Given the description of an element on the screen output the (x, y) to click on. 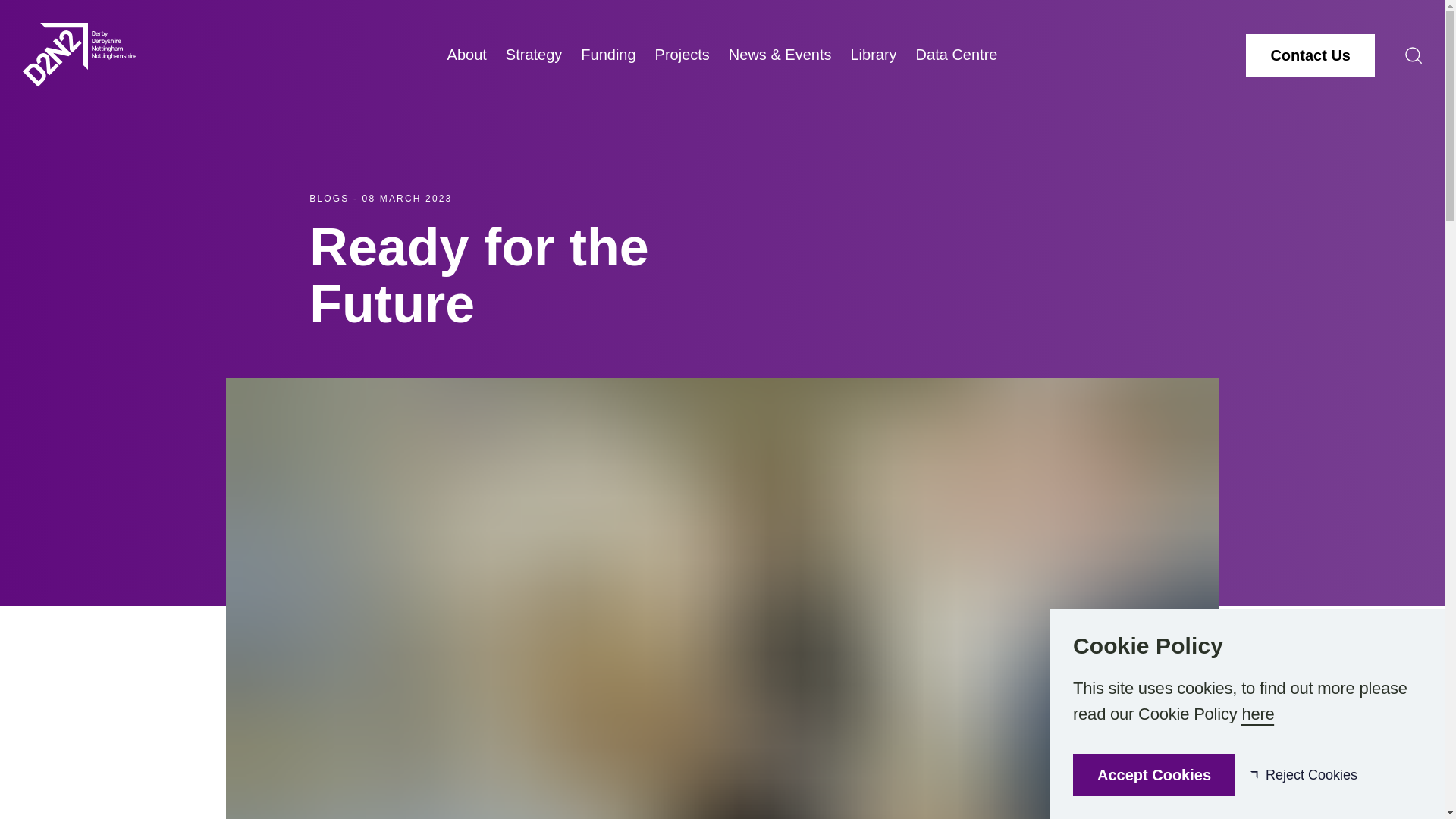
Reject Cookies (1303, 774)
Data Centre (956, 55)
Projects (682, 55)
Funding (607, 55)
Strategy (533, 55)
Contact Us (1310, 54)
Accept Cookies (1153, 774)
About (466, 55)
Library (873, 55)
here (1257, 714)
